Given the description of an element on the screen output the (x, y) to click on. 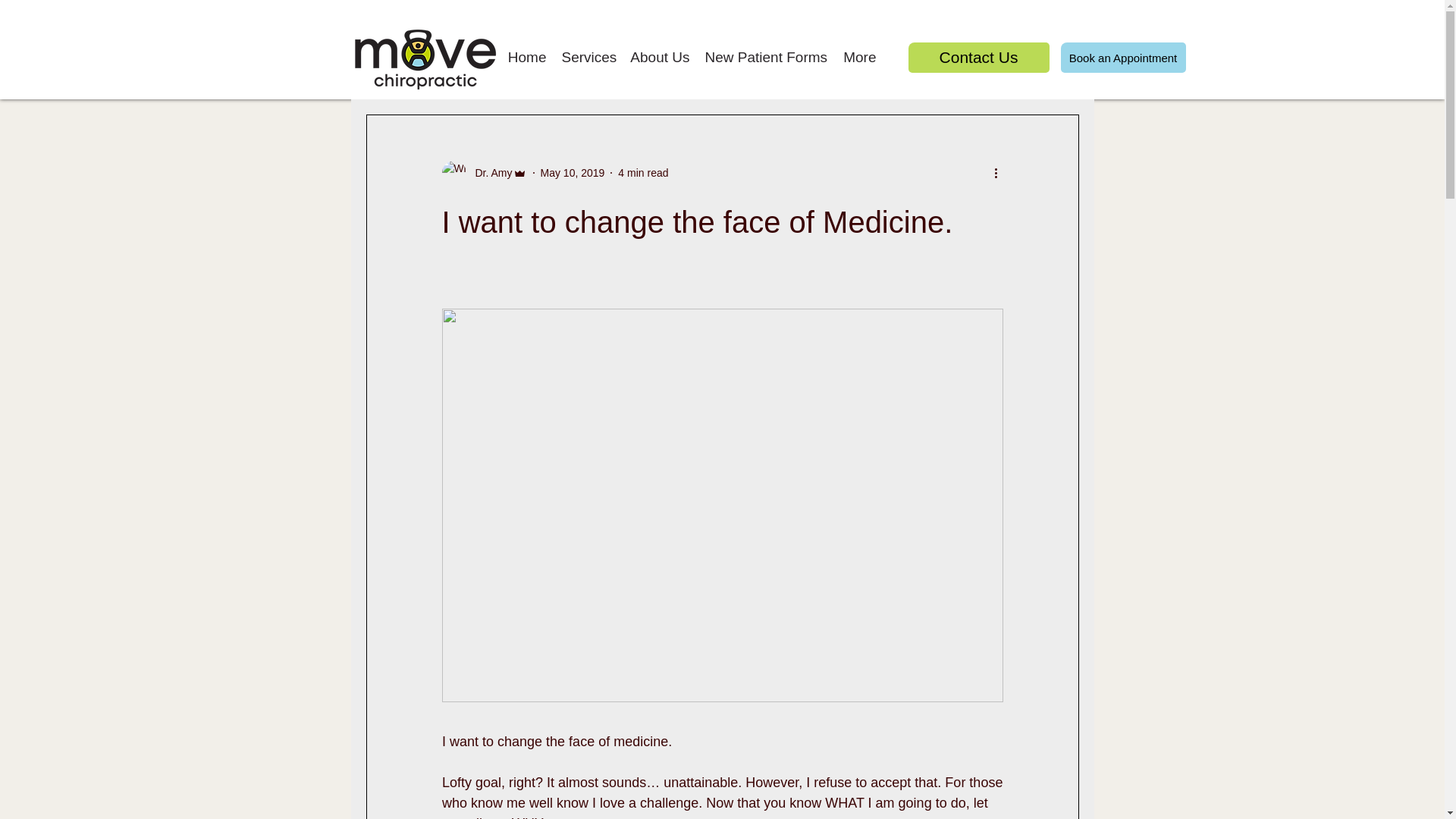
May 10, 2019 (572, 173)
Contact Us (978, 57)
Home (526, 56)
Services (587, 56)
About Us (659, 56)
4 min read (642, 173)
Dr. Amy (488, 172)
Book an Appointment (1122, 57)
Dr. Amy (483, 172)
New Patient Forms (765, 56)
